Given the description of an element on the screen output the (x, y) to click on. 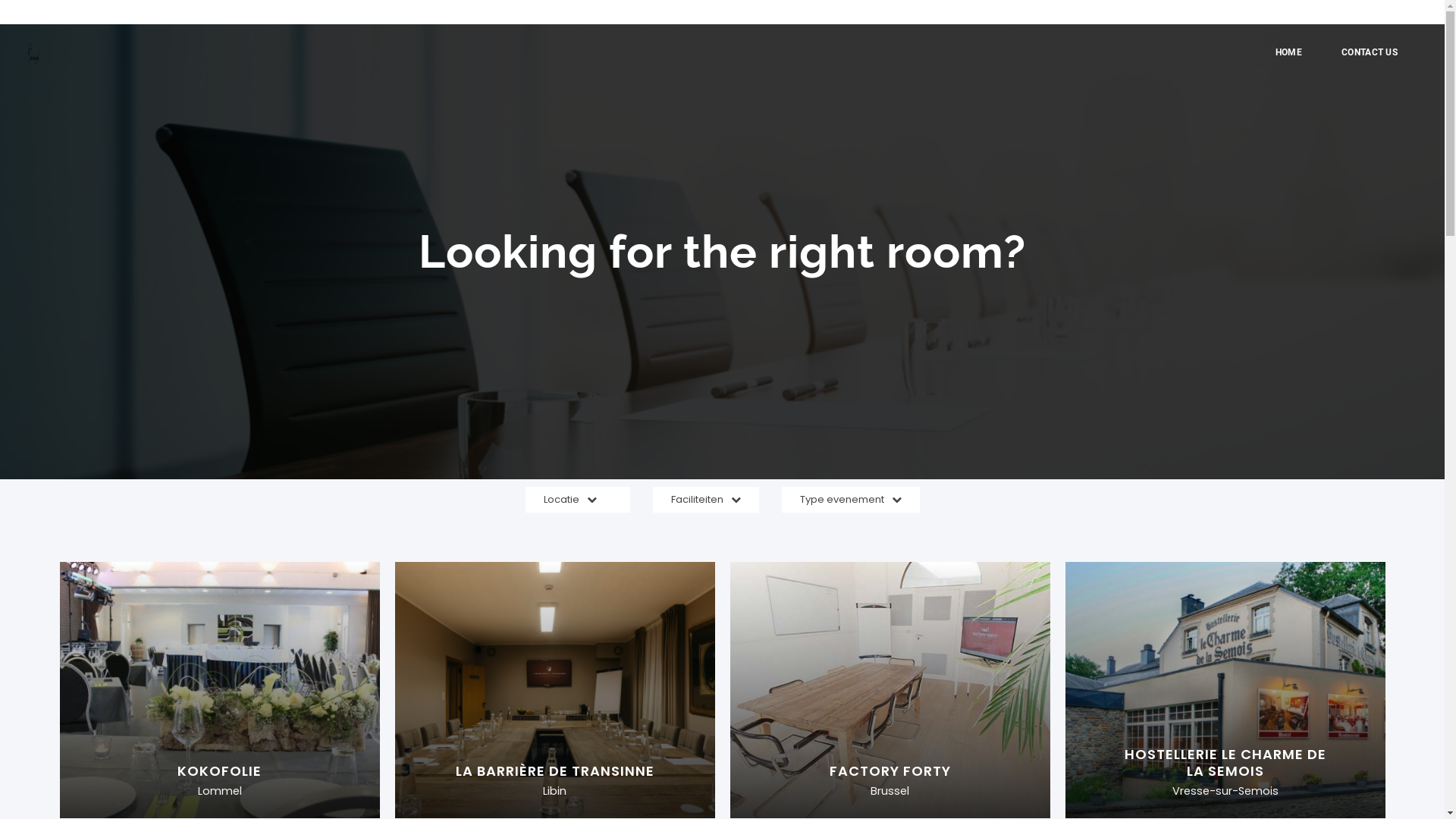
HOME Element type: text (1294, 51)
FACTORY FORTY Element type: text (889, 770)
CONTACT US Element type: text (1369, 51)
HOSTELLERIE LE CHARME DE LA SEMOIS Element type: text (1224, 762)
KOKOFOLIE Element type: text (219, 770)
